Given the description of an element on the screen output the (x, y) to click on. 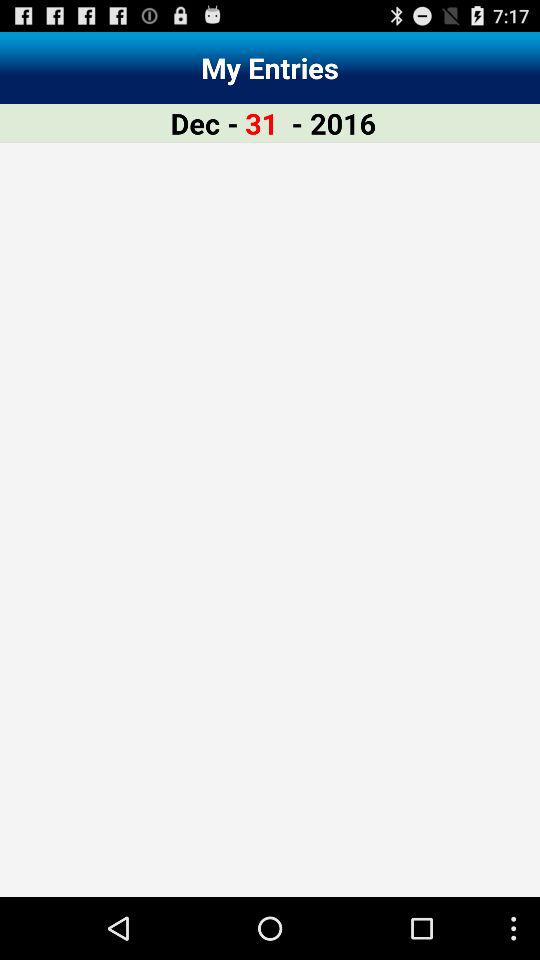
turn off the icon next to - 2016 icon (261, 122)
